Given the description of an element on the screen output the (x, y) to click on. 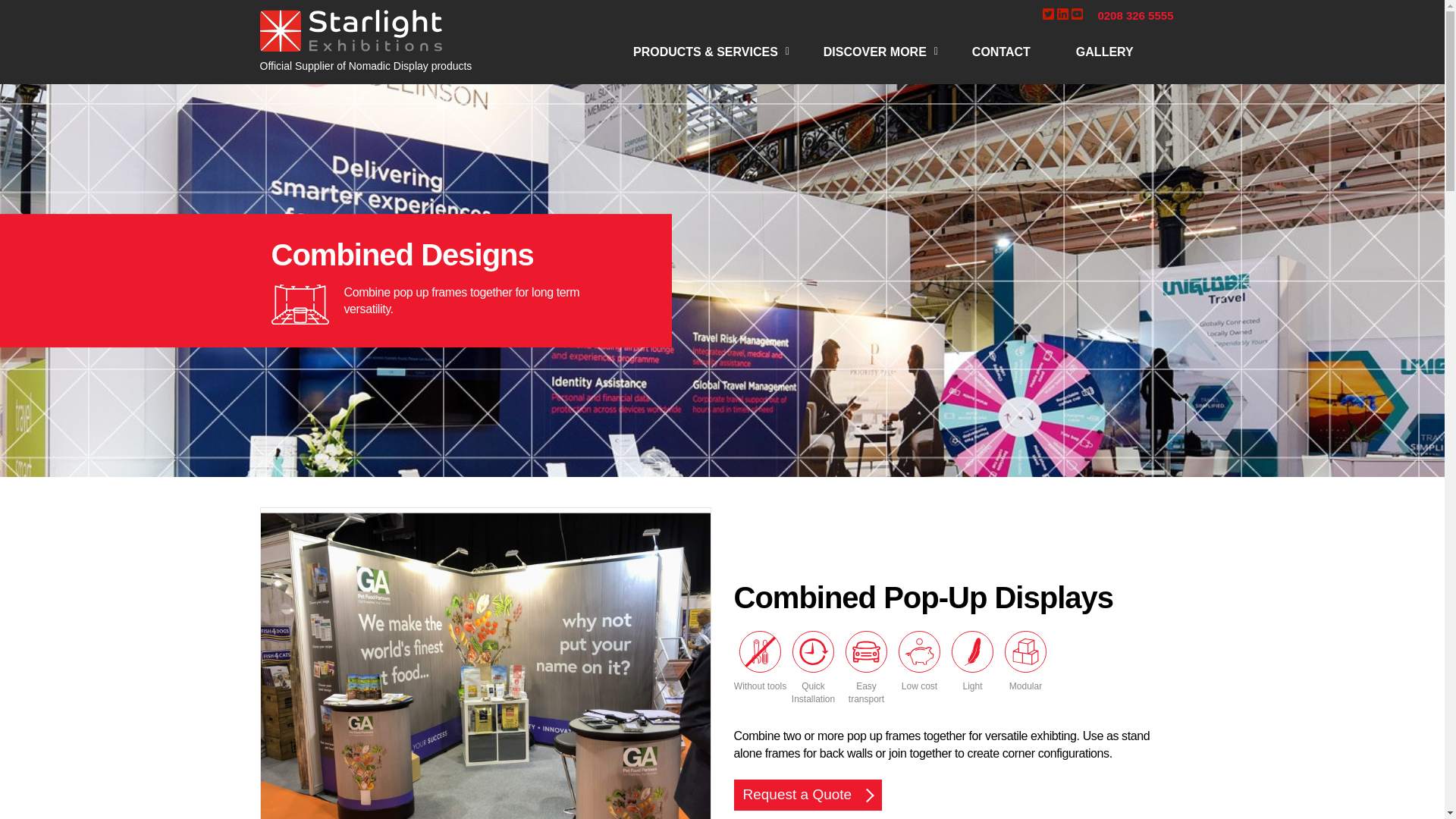
YouTube (1075, 14)
Twitter (1048, 14)
LinkedIn (1062, 14)
